Given the description of an element on the screen output the (x, y) to click on. 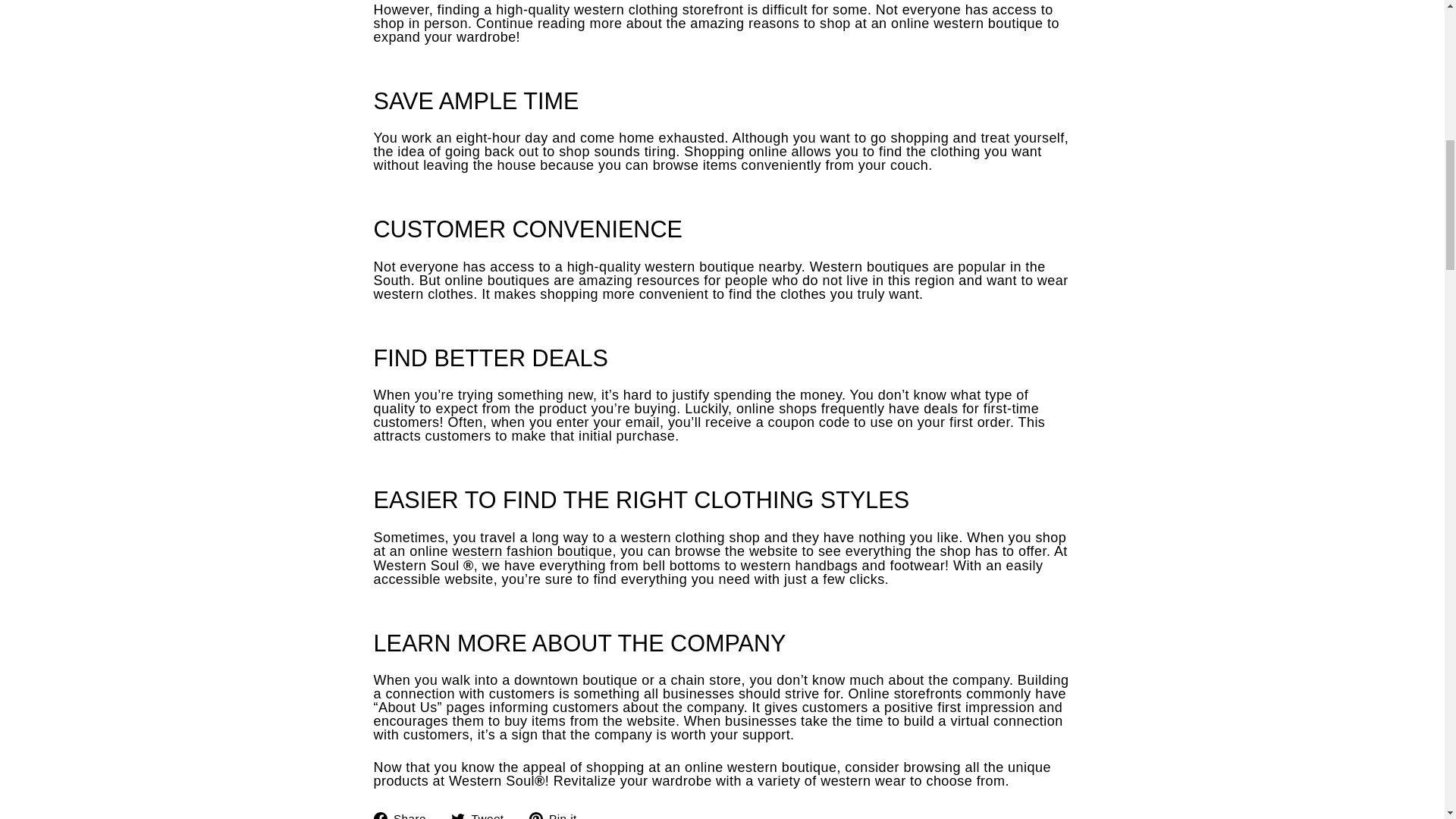
Tweet on Twitter (483, 814)
Share on Facebook (405, 814)
Pin on Pinterest (558, 814)
